Given the description of an element on the screen output the (x, y) to click on. 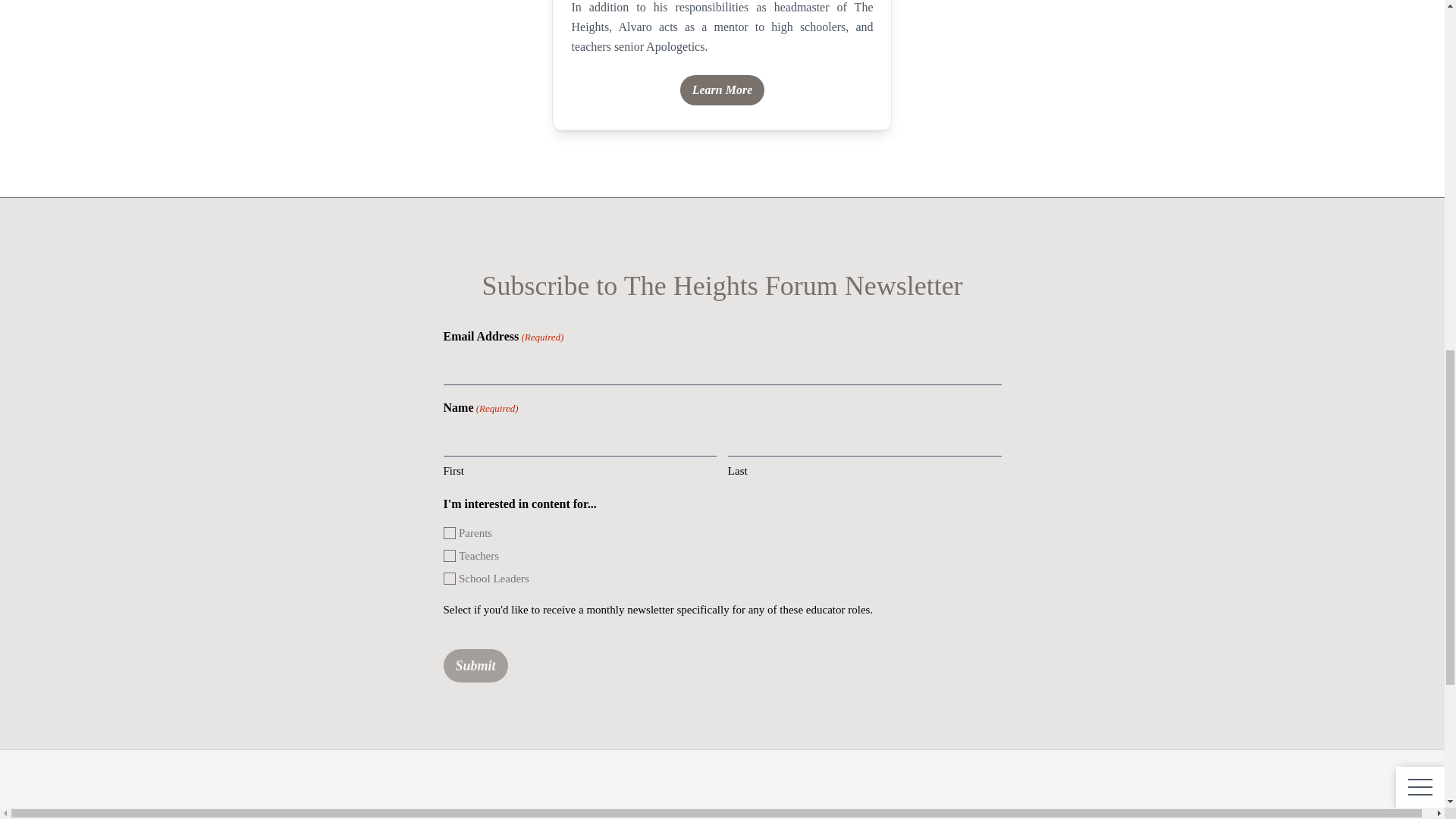
Submit (474, 665)
Teachers (448, 555)
School Leaders (448, 578)
Learn More (722, 90)
Parents (448, 532)
Submit (474, 665)
